Given the description of an element on the screen output the (x, y) to click on. 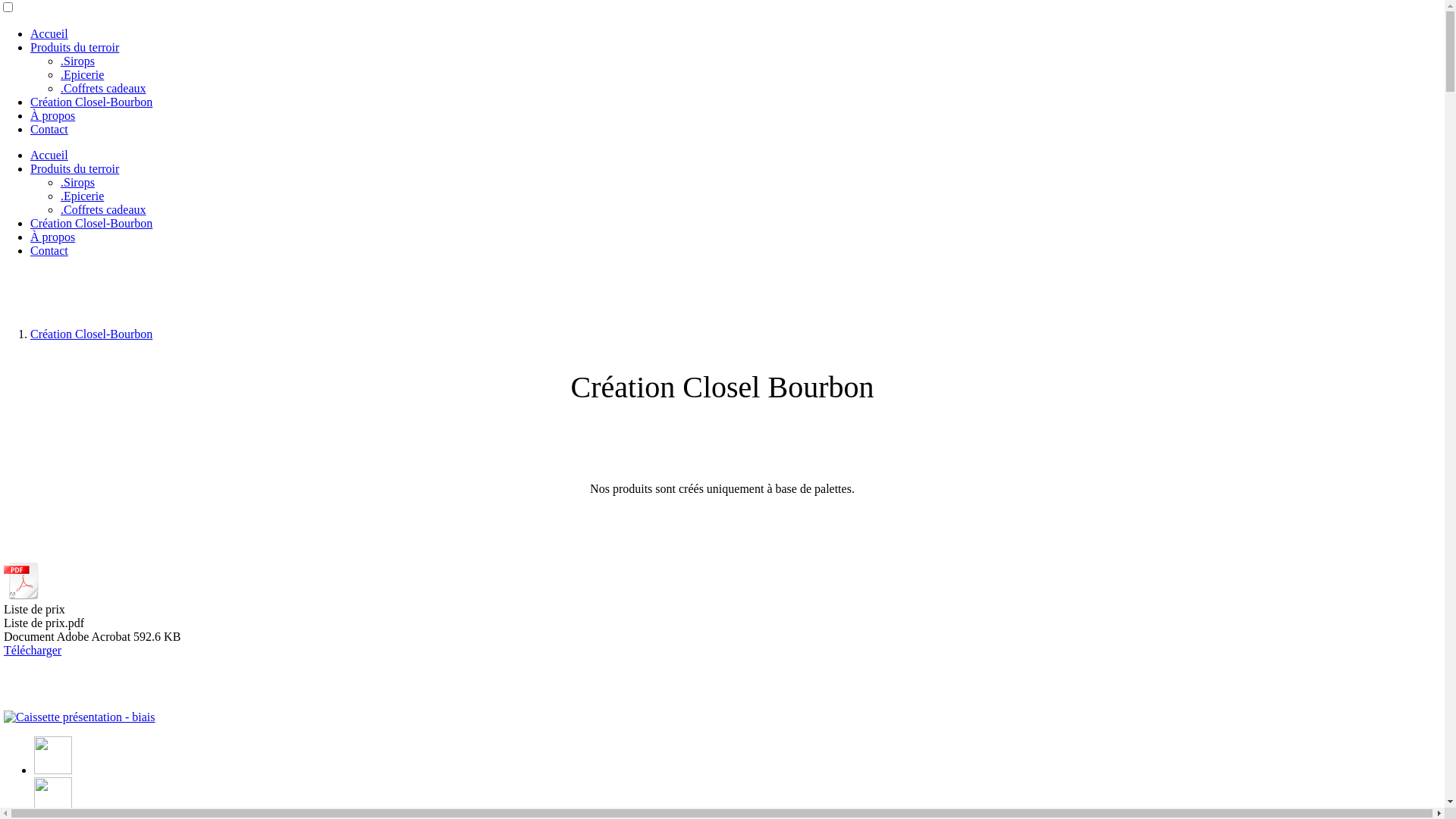
.Sirops Element type: text (77, 181)
.Epicerie Element type: text (81, 74)
Accueil Element type: text (49, 33)
Produits du terroir Element type: text (74, 46)
Contact Element type: text (49, 128)
.Epicerie Element type: text (81, 195)
.Sirops Element type: text (77, 60)
Contact Element type: text (49, 250)
Accueil Element type: text (49, 154)
.Coffrets cadeaux Element type: text (103, 87)
.Coffrets cadeaux Element type: text (103, 209)
Produits du terroir Element type: text (74, 168)
